Given the description of an element on the screen output the (x, y) to click on. 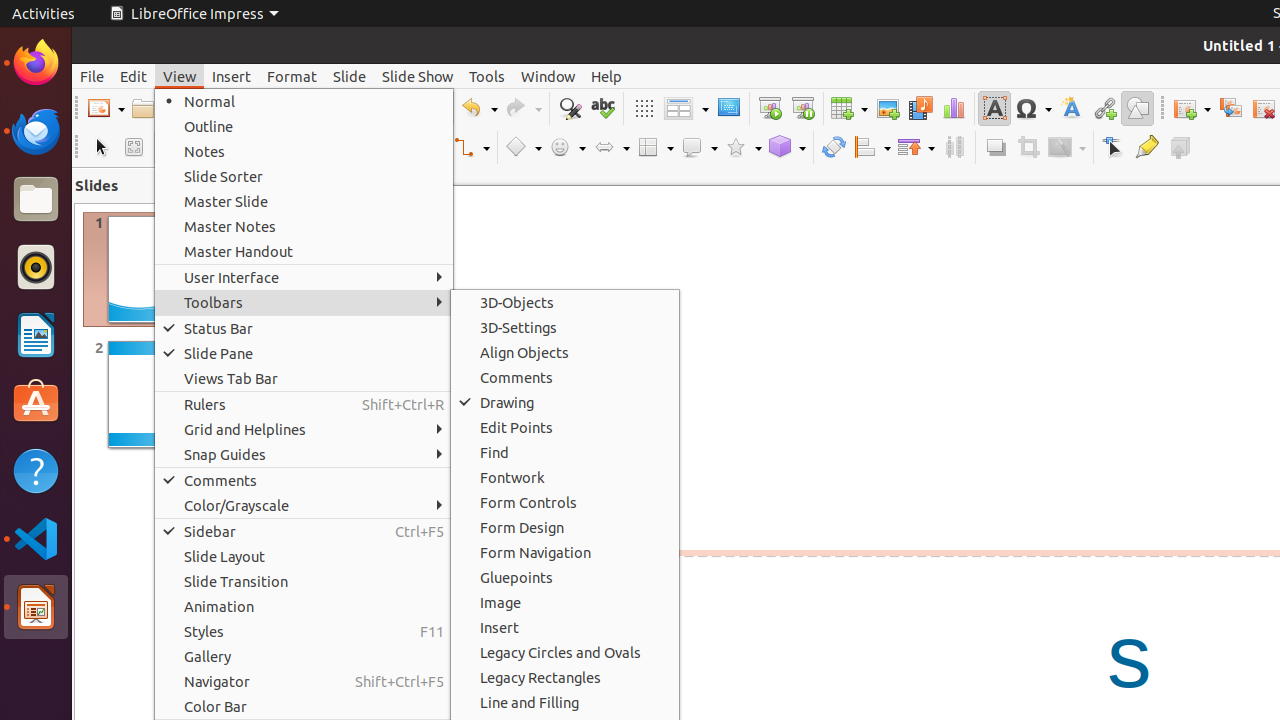
Drawing Element type: check-menu-item (565, 402)
Animation Element type: menu-item (304, 606)
LibreOffice Impress Element type: menu (193, 13)
Gallery Element type: menu-item (304, 656)
Toolbars Element type: menu (304, 302)
